Given the description of an element on the screen output the (x, y) to click on. 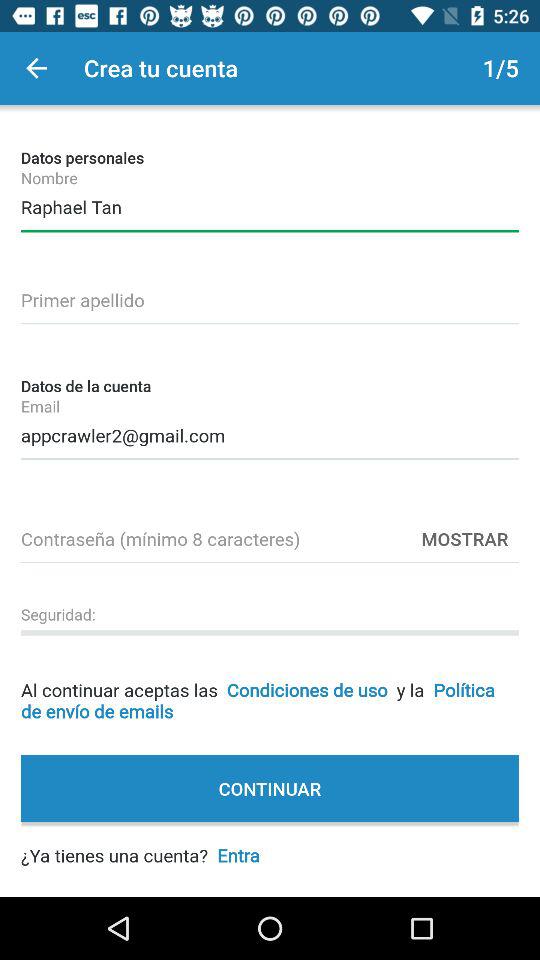
tap al continuar aceptas (270, 684)
